Given the description of an element on the screen output the (x, y) to click on. 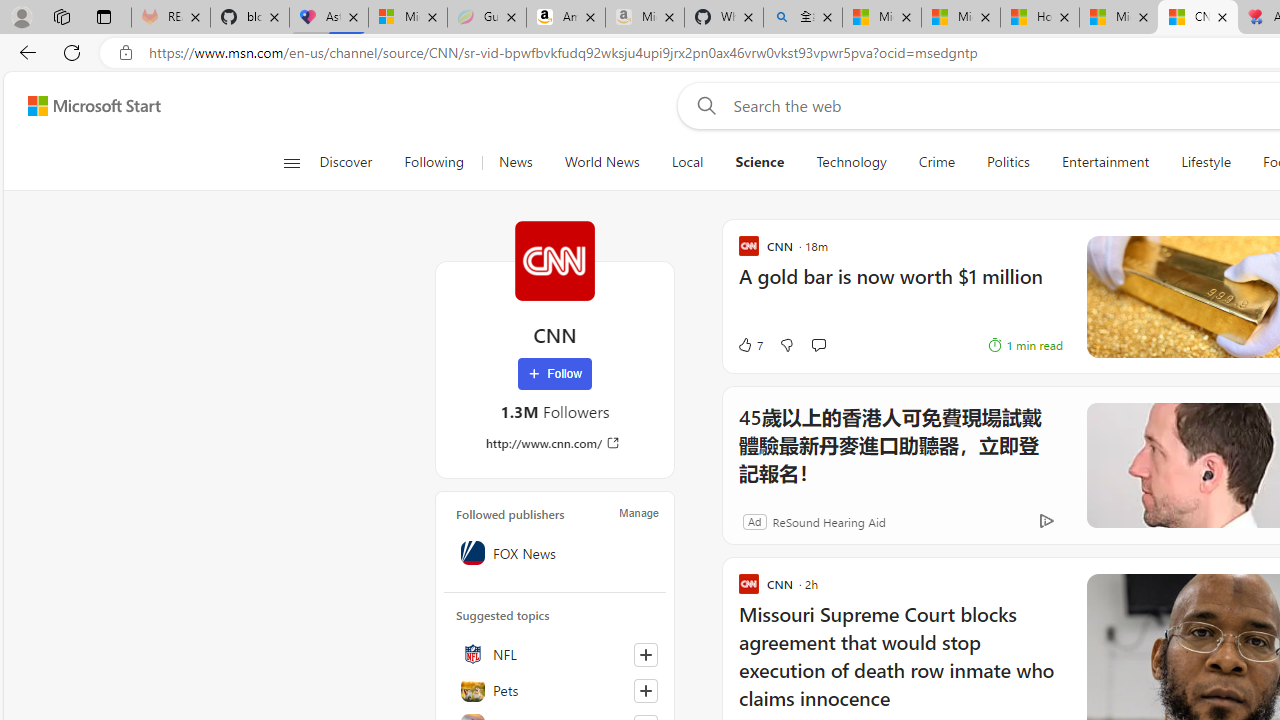
FOX News (555, 552)
http://www.cnn.com/ (554, 443)
Asthma Inhalers: Names and Types (329, 17)
Follow this topic (645, 690)
